Given the description of an element on the screen output the (x, y) to click on. 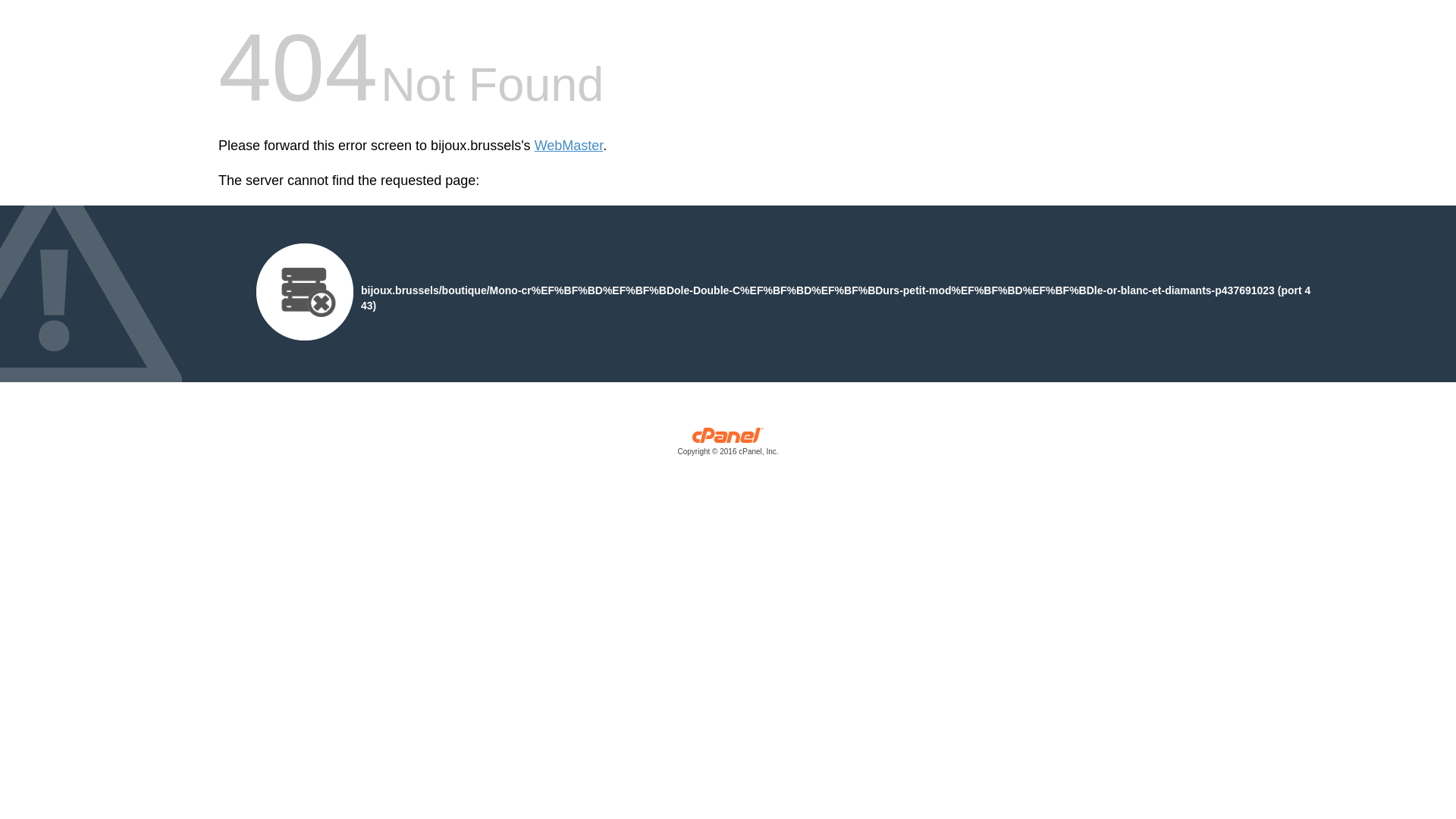
WebMaster Element type: text (568, 145)
